Given the description of an element on the screen output the (x, y) to click on. 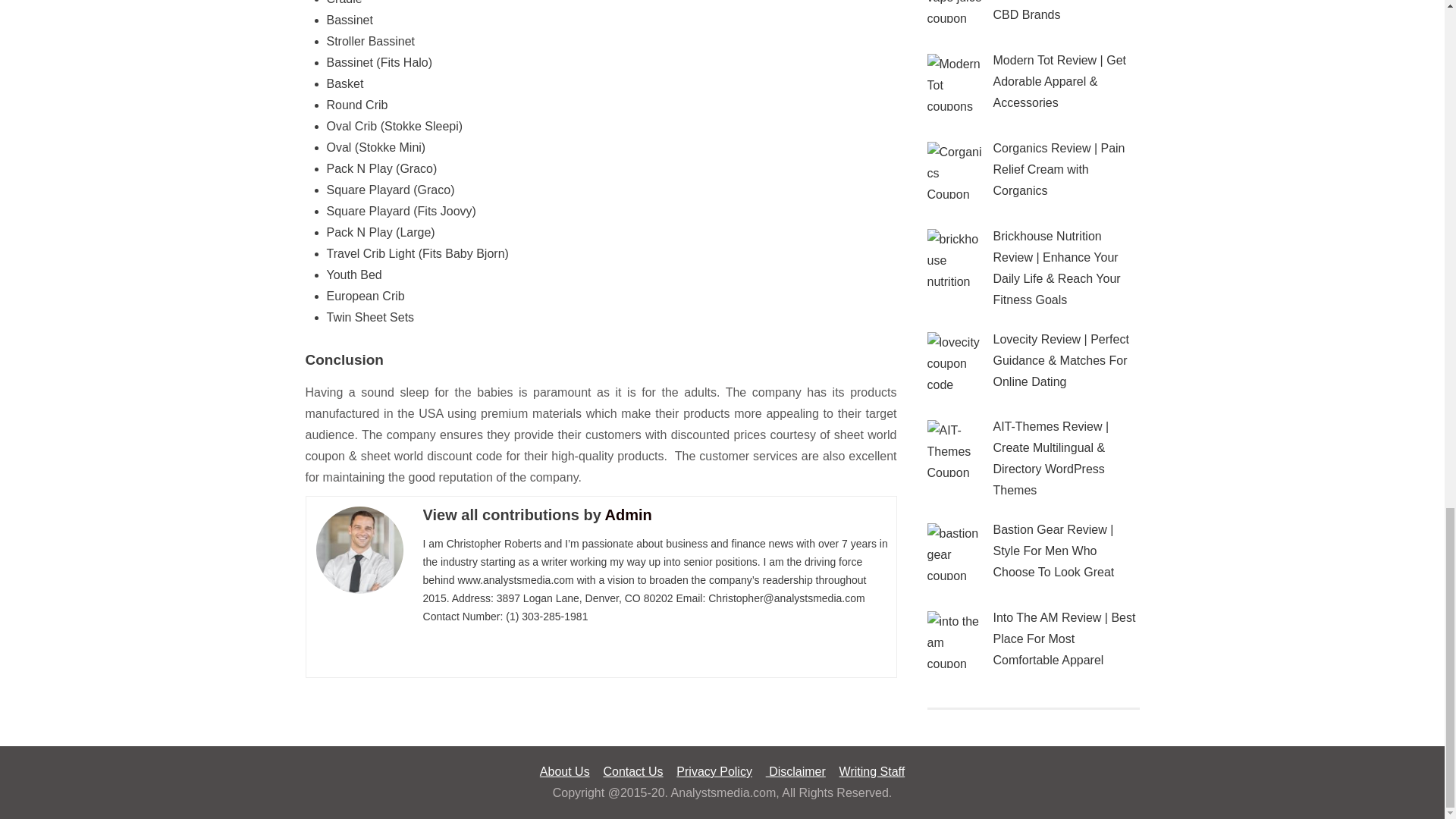
About Us (564, 771)
Admin (628, 514)
Contact Us (632, 771)
Posts by Admin (628, 514)
